Given the description of an element on the screen output the (x, y) to click on. 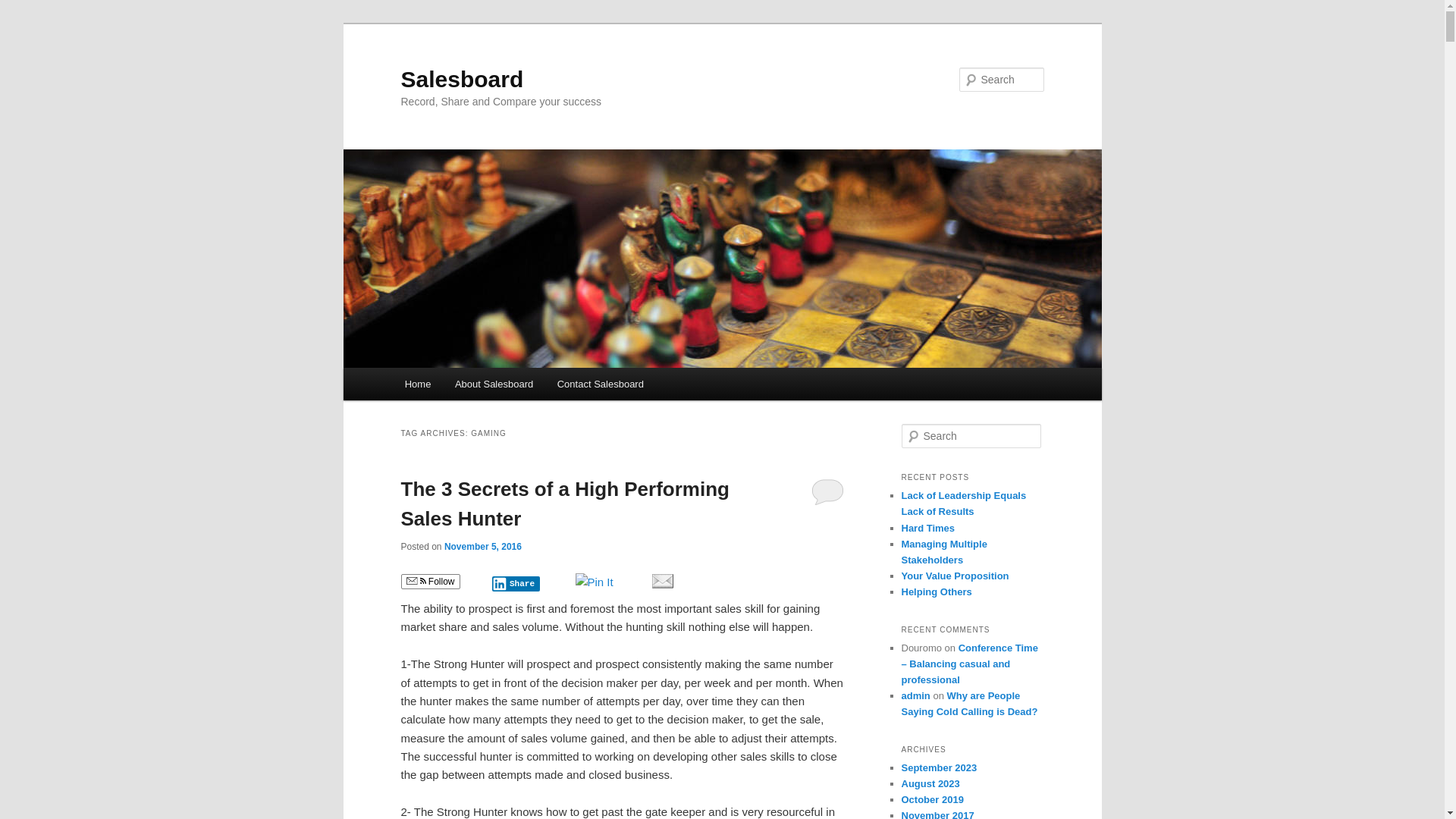
Contact Salesboard Element type: text (600, 383)
Salesboard Element type: text (461, 78)
Email Element type: hover (661, 580)
About Salesboard Element type: text (493, 383)
September 2023 Element type: text (938, 767)
The 3 Secrets of a High Performing Sales Hunter Element type: text (564, 503)
admin Element type: text (914, 695)
Why are People Saying Cold Calling is Dead? Element type: text (968, 703)
Lack of Leadership Equals Lack of Results Element type: text (963, 503)
Search Element type: text (20, 10)
October 2019 Element type: text (931, 799)
Skip to secondary content Element type: text (479, 386)
Managing Multiple Stakeholders Element type: text (943, 551)
Follow Element type: text (429, 581)
Email, RSS Element type: hover (416, 581)
August 2023 Element type: text (929, 783)
November 5, 2016 Element type: text (482, 546)
Your Value Proposition Element type: text (954, 575)
Home Element type: text (417, 383)
Helping Others Element type: text (935, 591)
Hard Times Element type: text (927, 527)
Share Element type: text (515, 583)
Skip to primary content Element type: text (472, 386)
Search Element type: text (24, 8)
